Given the description of an element on the screen output the (x, y) to click on. 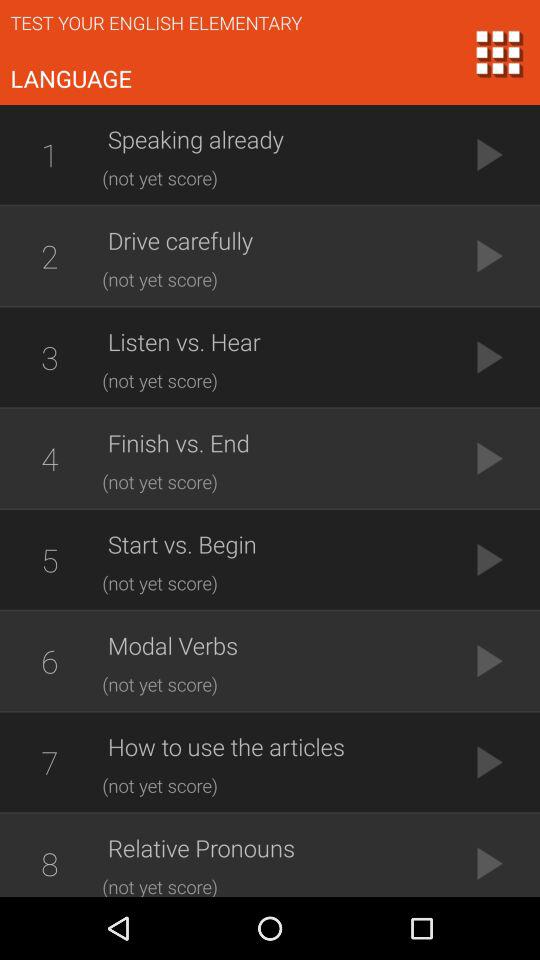
press the icon next to 1 app (275, 139)
